Given the description of an element on the screen output the (x, y) to click on. 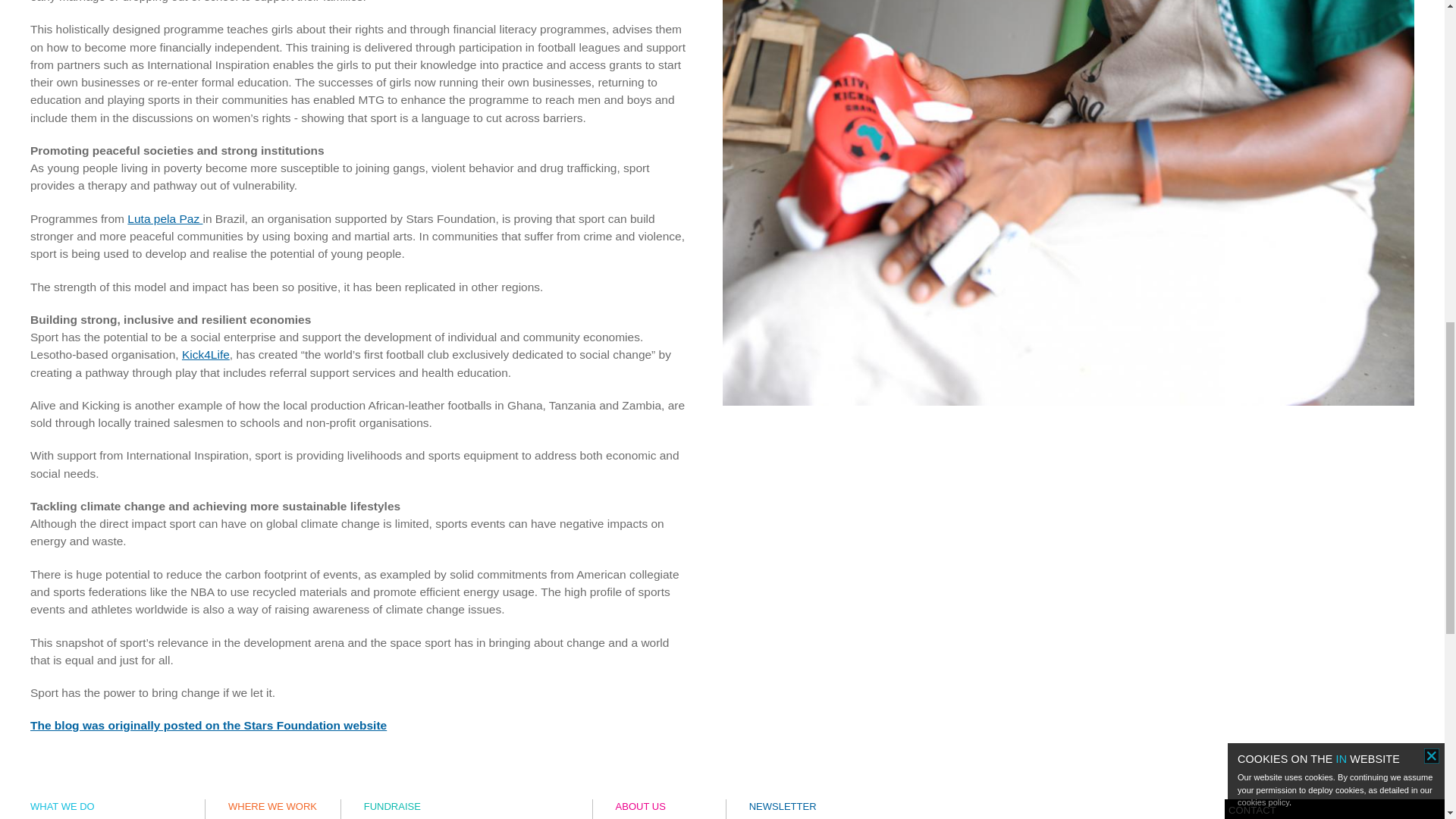
Kick4Life (206, 354)
Luta pela Paz (165, 218)
WHAT WE DO (62, 806)
